Given the description of an element on the screen output the (x, y) to click on. 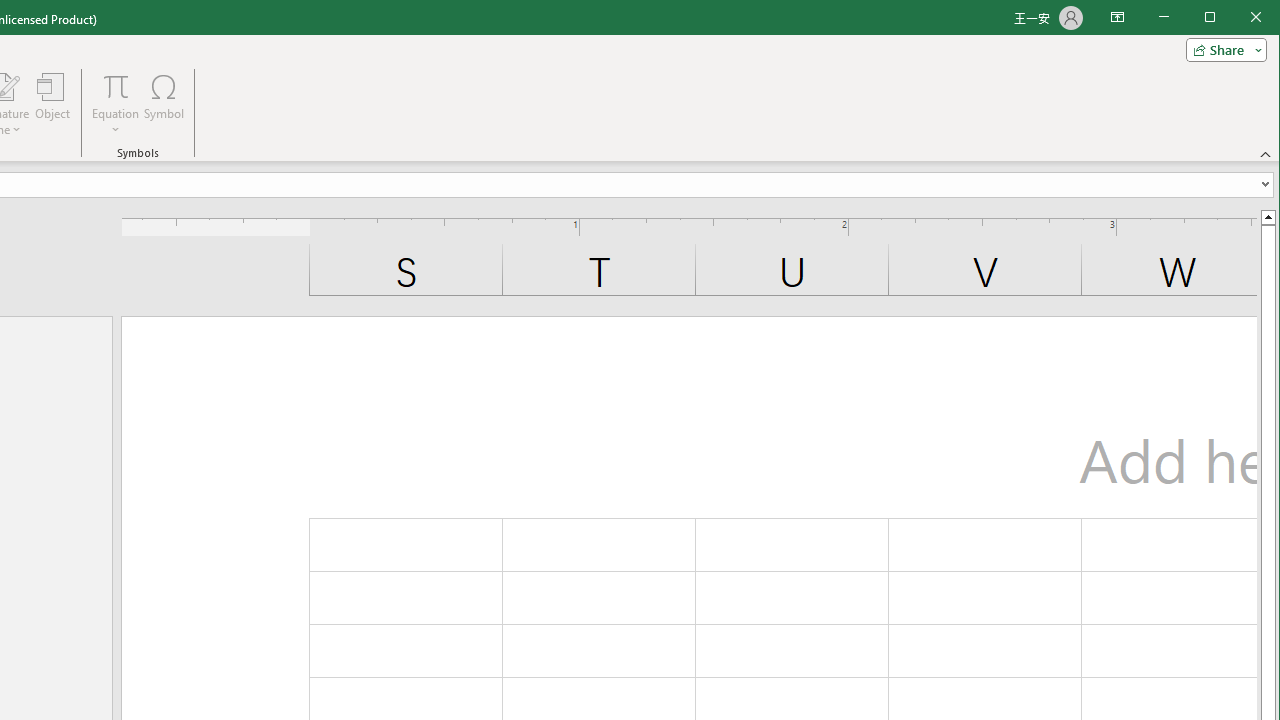
Equation (115, 86)
Symbol... (164, 104)
Object... (53, 104)
Maximize (1238, 18)
Equation (115, 104)
